Given the description of an element on the screen output the (x, y) to click on. 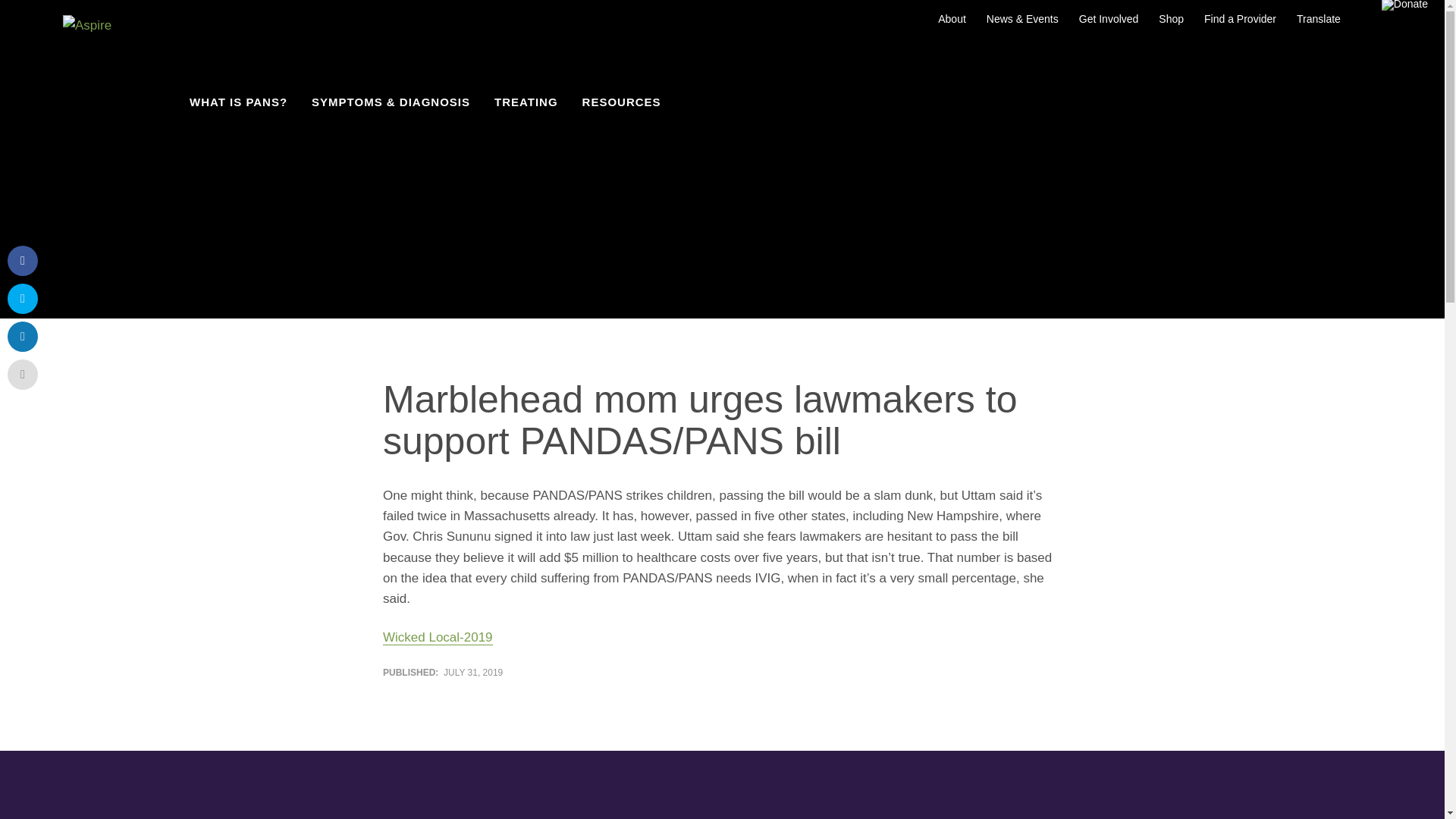
Translate (1318, 18)
About (951, 18)
WHAT IS PANS? (238, 101)
Aspire (87, 61)
Shop (1171, 18)
Get Involved (1109, 18)
Find a Provider (1240, 18)
Search (1361, 13)
